Given the description of an element on the screen output the (x, y) to click on. 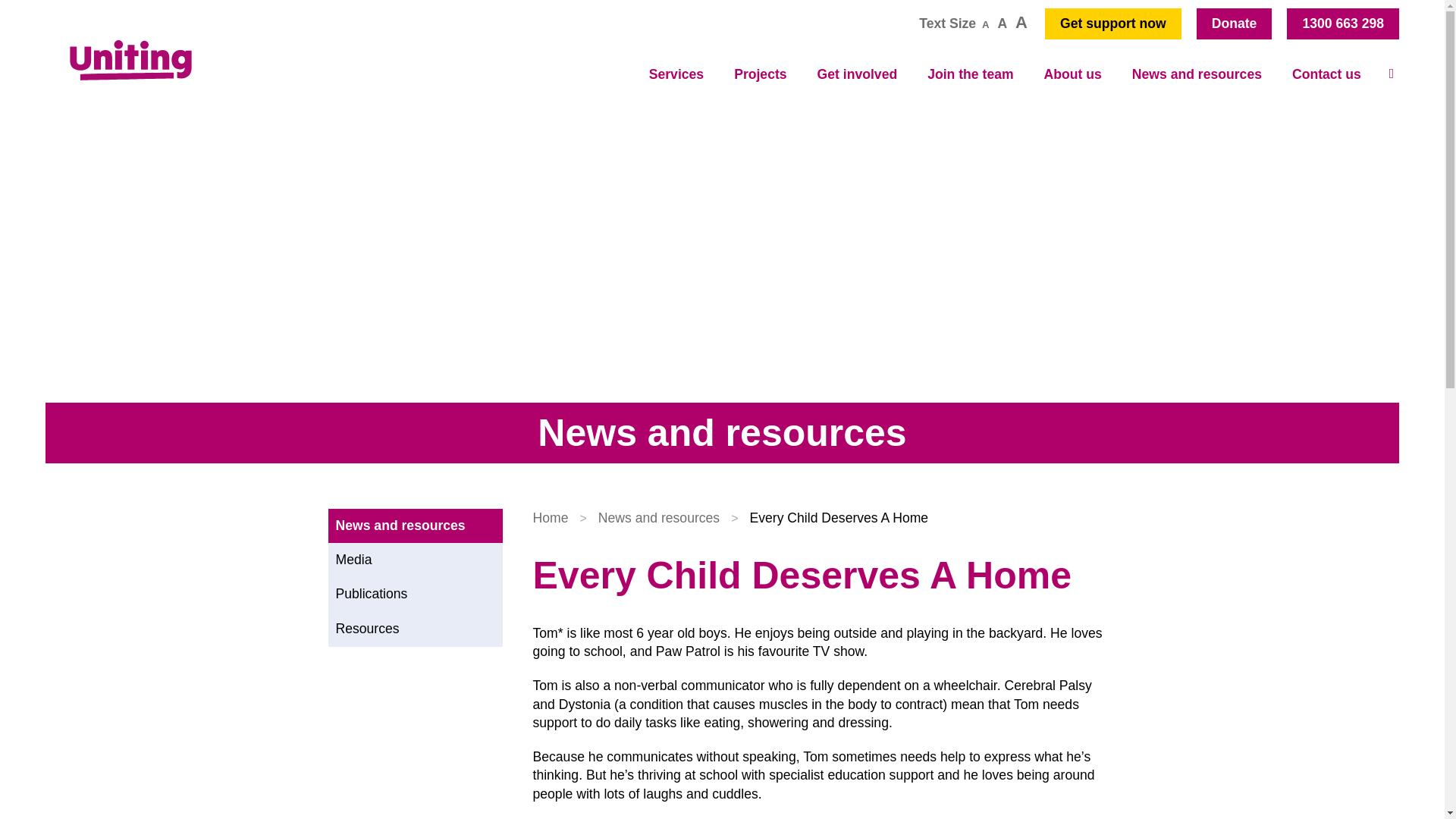
Donate (1234, 24)
Projects (760, 74)
1300 663 298 (1343, 24)
A (1021, 22)
Join the team (969, 74)
Call Now (1343, 24)
Services (676, 74)
Get support now (1112, 24)
Donate (1234, 24)
Get involved (857, 74)
Logo (130, 60)
A (985, 24)
A (1001, 23)
News and resources (1196, 74)
About us (1072, 74)
